Given the description of an element on the screen output the (x, y) to click on. 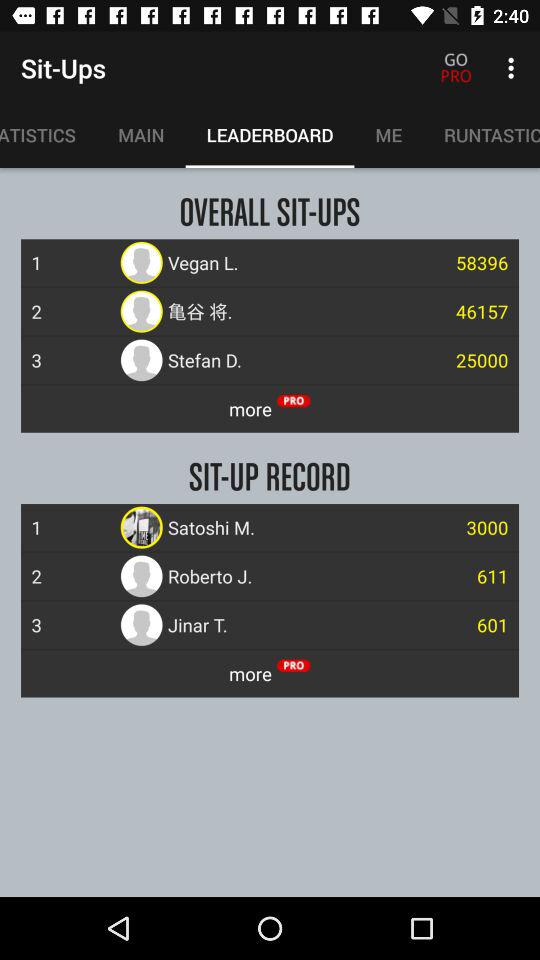
turn off the item to the left of leaderboard icon (141, 135)
